Given the description of an element on the screen output the (x, y) to click on. 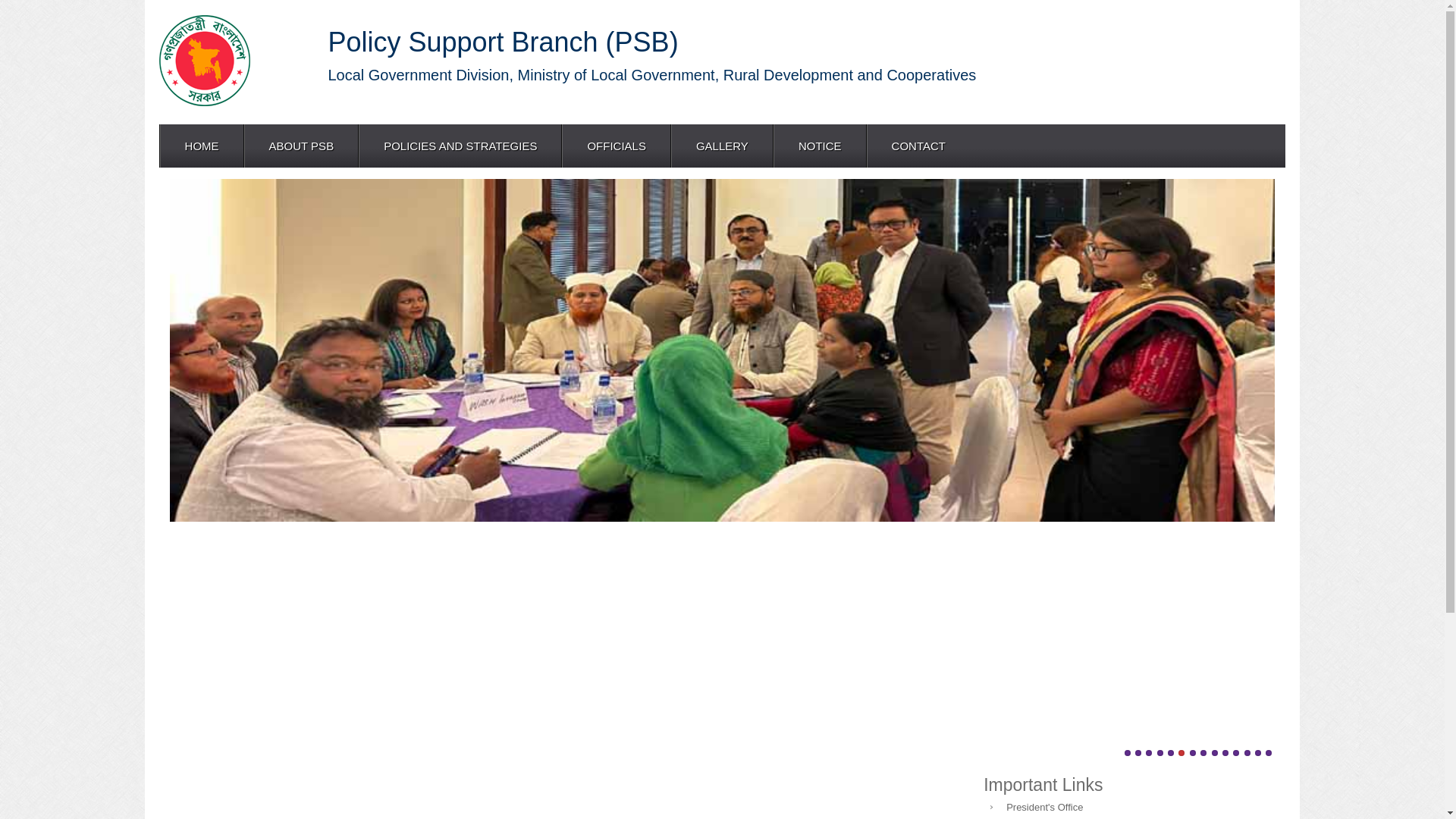
4 Element type: text (1160, 752)
6 Element type: text (1181, 752)
2 Element type: text (1138, 752)
8 Element type: text (1203, 752)
GALLERY Element type: text (721, 145)
13 Element type: text (1258, 752)
11 Element type: text (1236, 752)
14 Element type: text (1268, 752)
NOTICE Element type: text (819, 145)
7 Element type: text (1192, 752)
12 Element type: text (1247, 752)
5 Element type: text (1170, 752)
ABOUT PSB Element type: text (300, 145)
POLICIES AND STRATEGIES Element type: text (459, 145)
OFFICIALS Element type: text (615, 145)
1 Element type: text (1126, 752)
HOME Element type: text (201, 145)
9 Element type: text (1214, 752)
CONTACT Element type: text (917, 145)
10 Element type: text (1225, 752)
3 Element type: text (1148, 752)
